Given the description of an element on the screen output the (x, y) to click on. 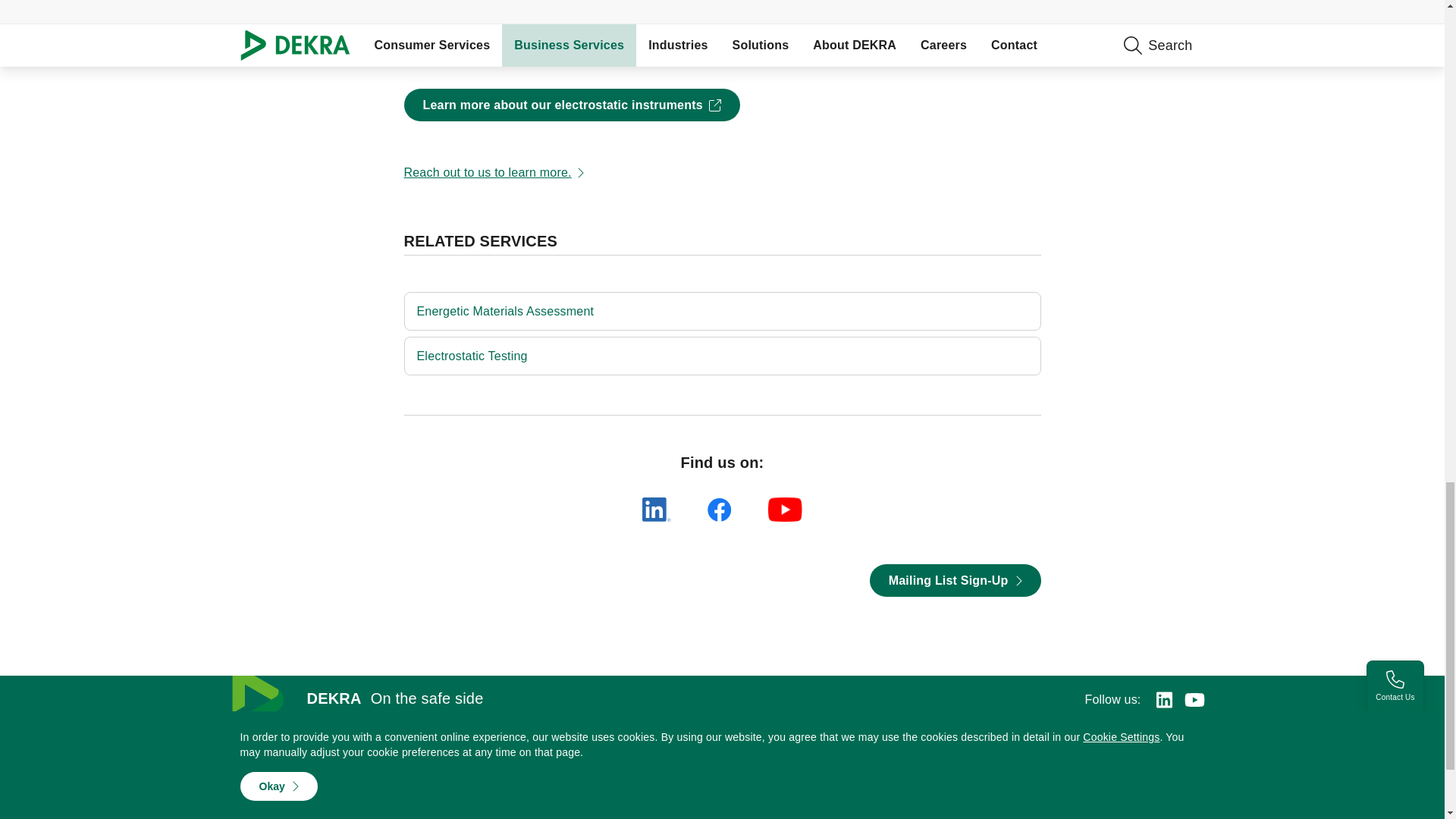
youtube (1195, 700)
linkedin (656, 509)
youtube (785, 509)
facebook (719, 509)
DEKRA Process Safety Mailing List (955, 580)
electrostatic instruments (571, 104)
